Given the description of an element on the screen output the (x, y) to click on. 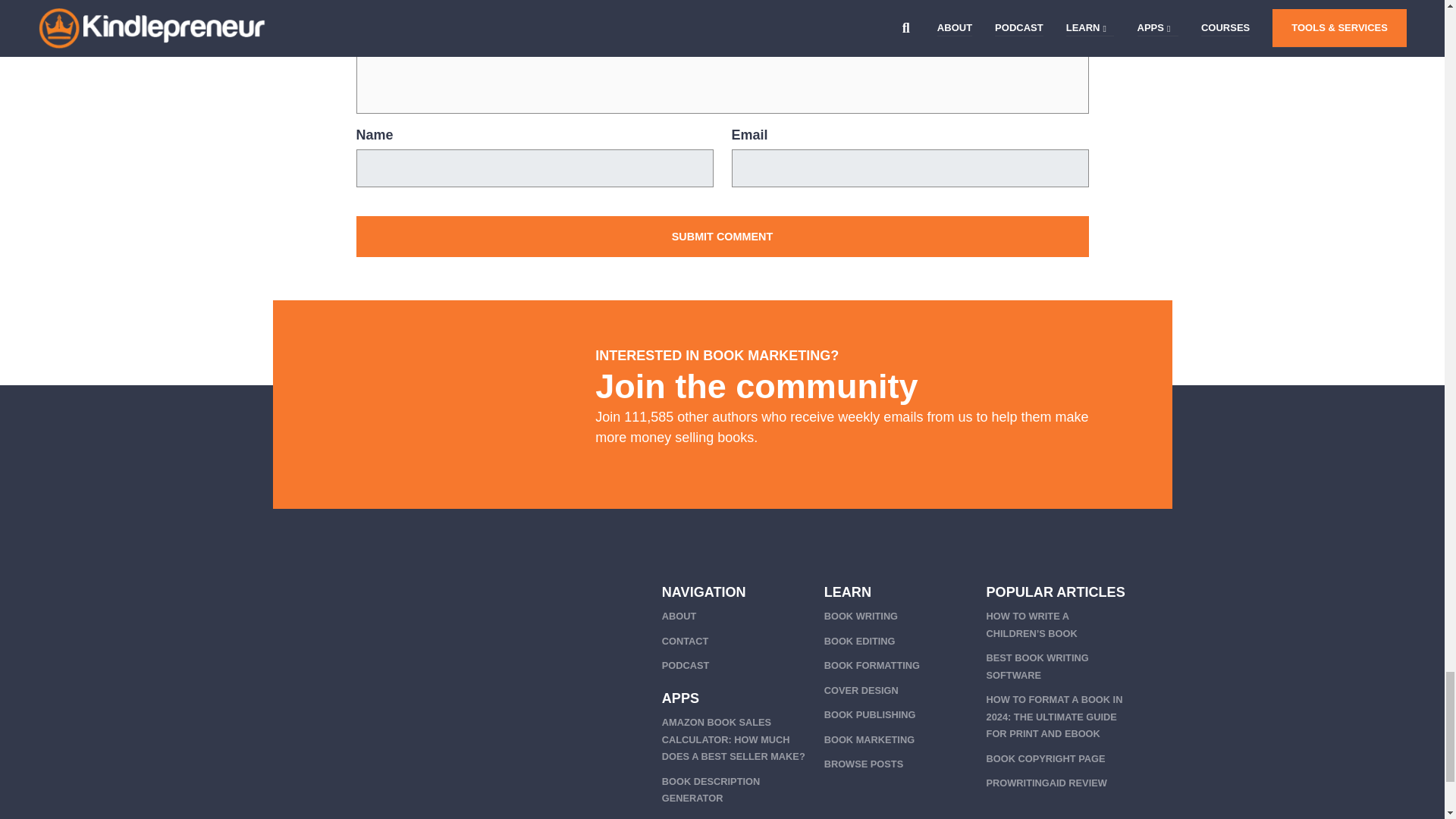
Submit Comment (722, 236)
